Given the description of an element on the screen output the (x, y) to click on. 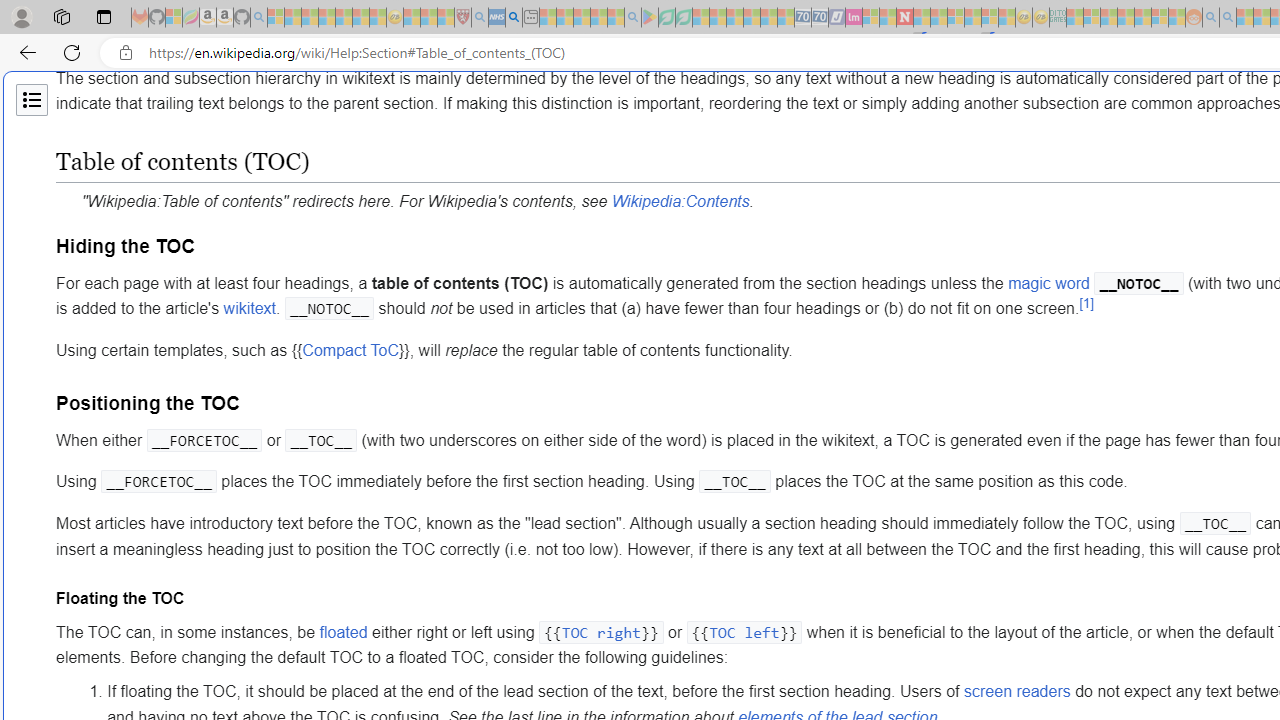
New Report Confirms 2023 Was Record Hot | Watch - Sleeping (343, 17)
The Weather Channel - MSN - Sleeping (309, 17)
Compact ToC (350, 350)
TOC right (600, 632)
Local - MSN - Sleeping (445, 17)
Wikipedia:Contents (680, 201)
Cheap Hotels - Save70.com - Sleeping (819, 17)
